Given the description of an element on the screen output the (x, y) to click on. 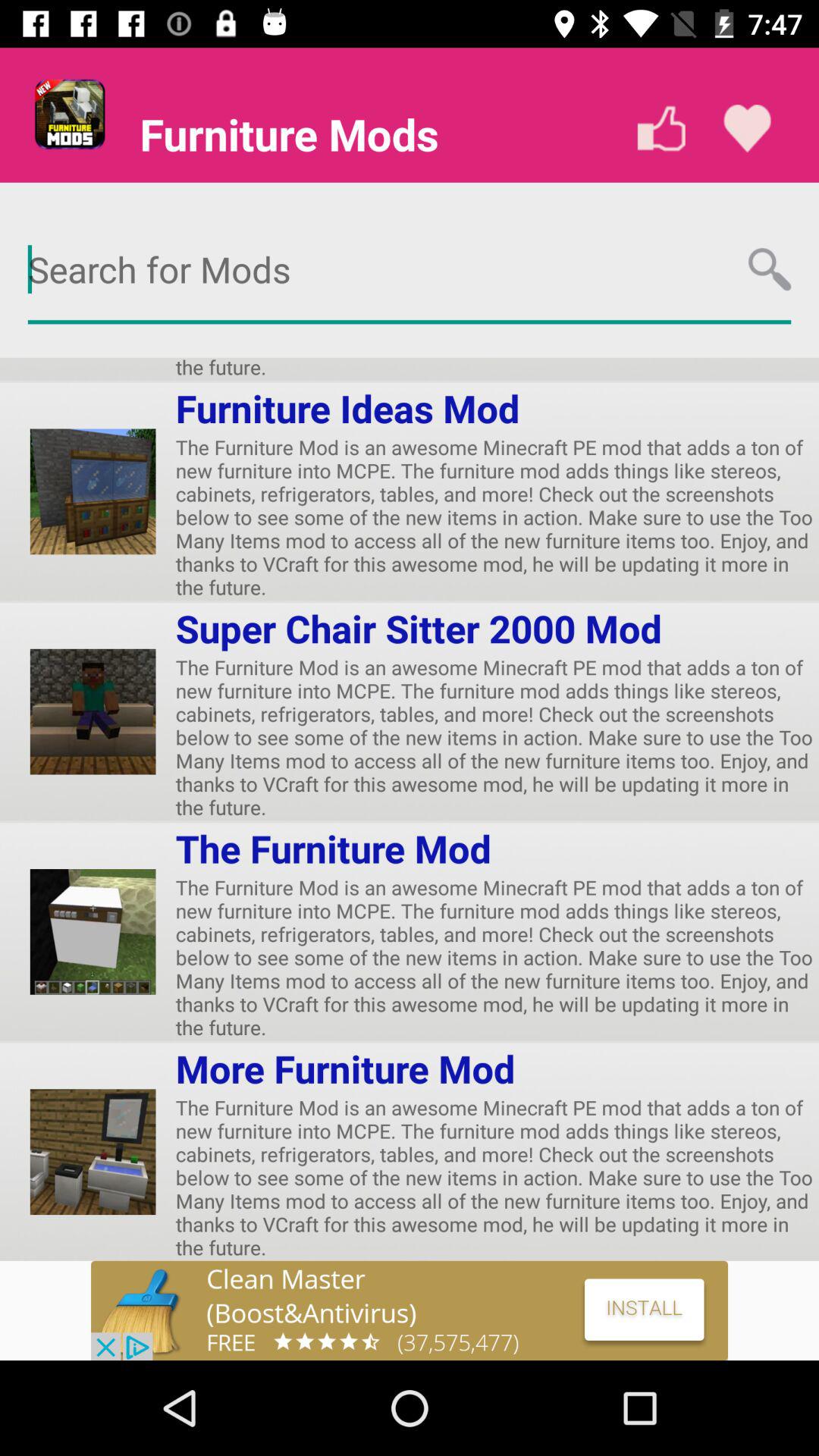
give a like (661, 128)
